Given the description of an element on the screen output the (x, y) to click on. 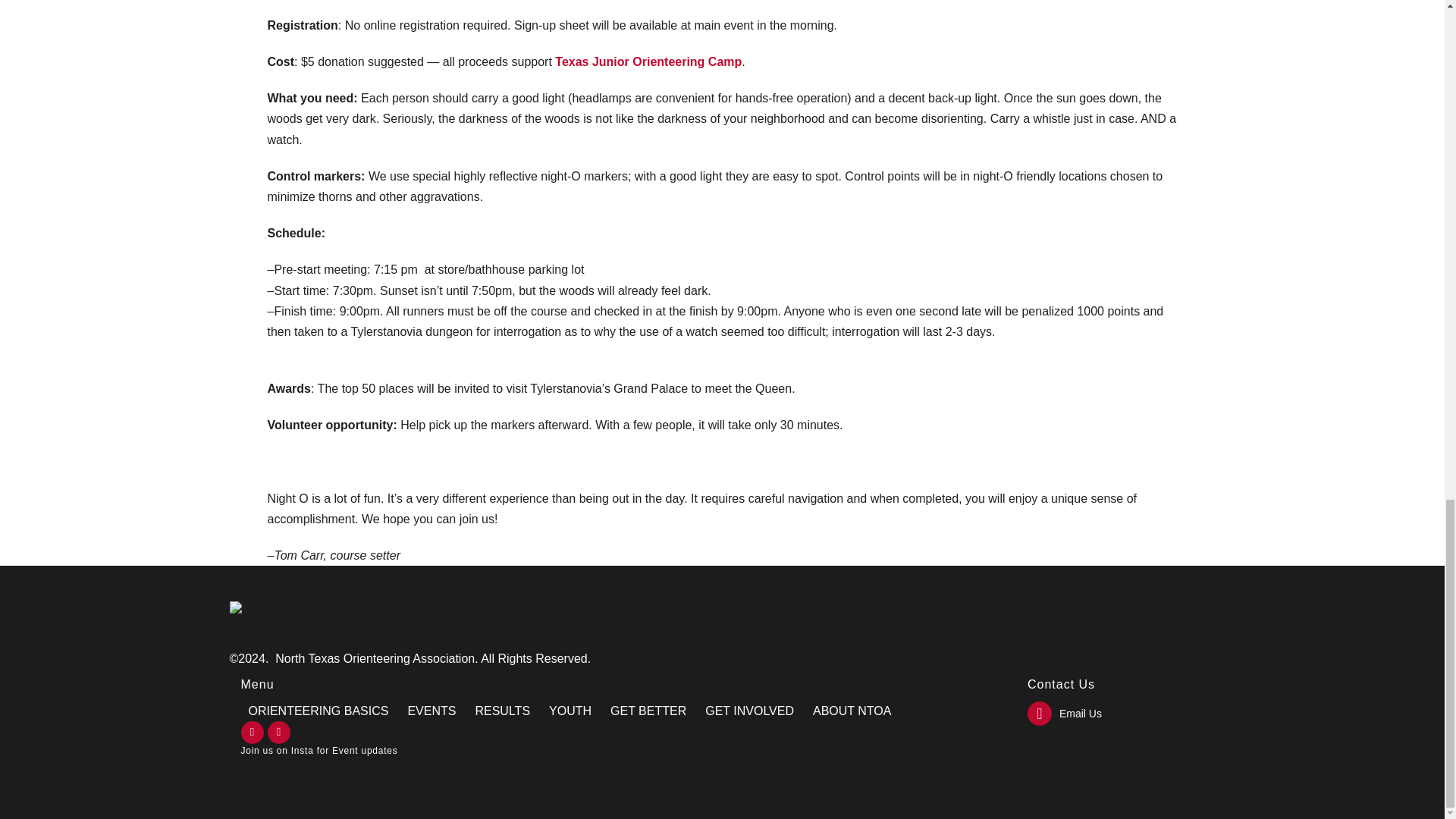
Texas Junior Orienteering Camp (647, 61)
ORIENTEERING BASICS (320, 711)
RESULTS (504, 711)
GET INVOLVED (751, 711)
Email Us (1064, 713)
EVENTS (432, 711)
GET BETTER (649, 711)
ABOUT NTOA (853, 711)
YOUTH (571, 711)
